Given the description of an element on the screen output the (x, y) to click on. 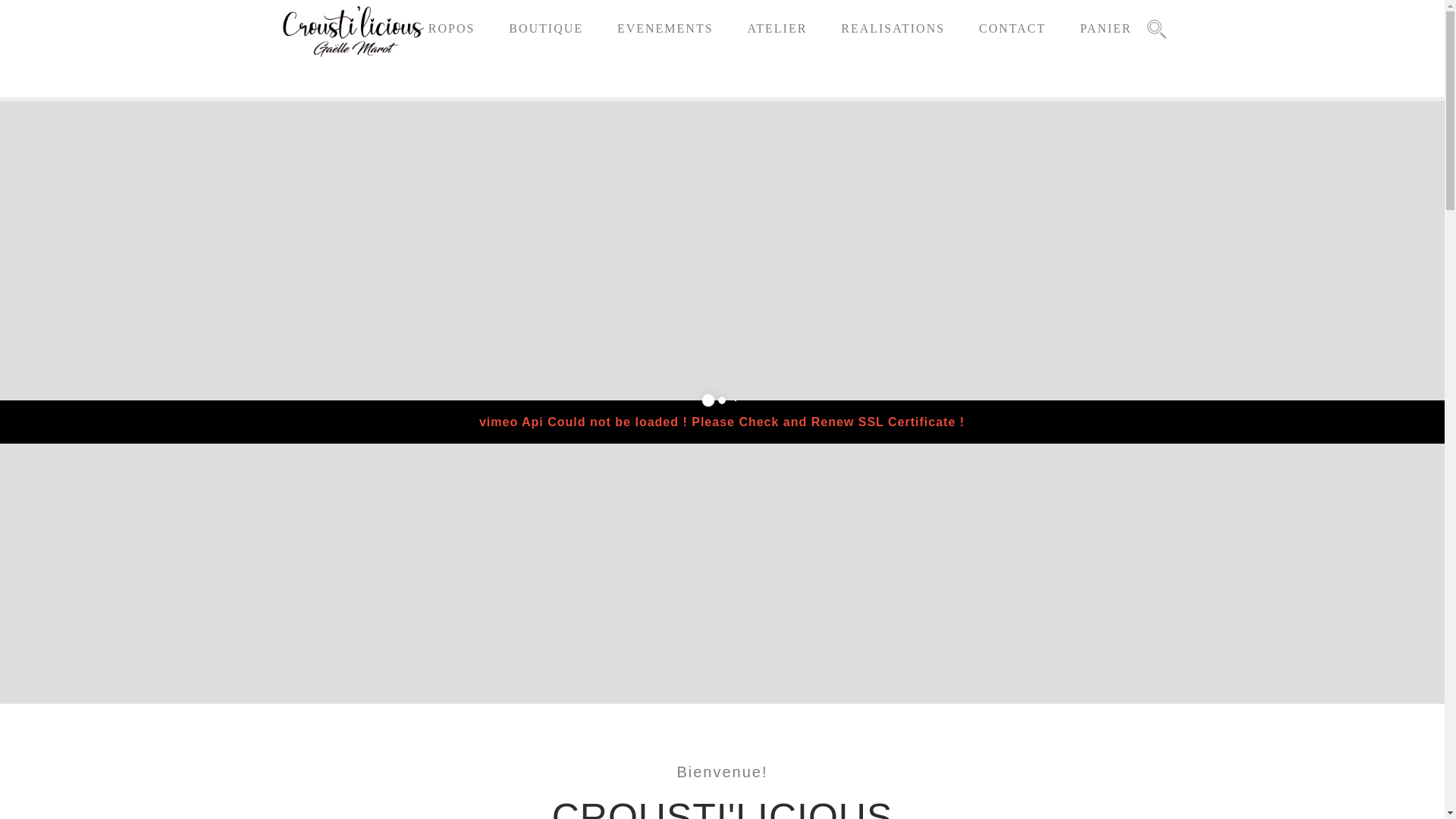
EVENEMENTS Element type: text (665, 27)
BOUTIQUE Element type: text (545, 27)
PANIER Element type: text (1105, 27)
REALISATIONS Element type: text (892, 27)
Chercher Element type: text (891, 409)
ATELIER Element type: text (776, 27)
CONTACT Element type: text (1012, 27)
